Given the description of an element on the screen output the (x, y) to click on. 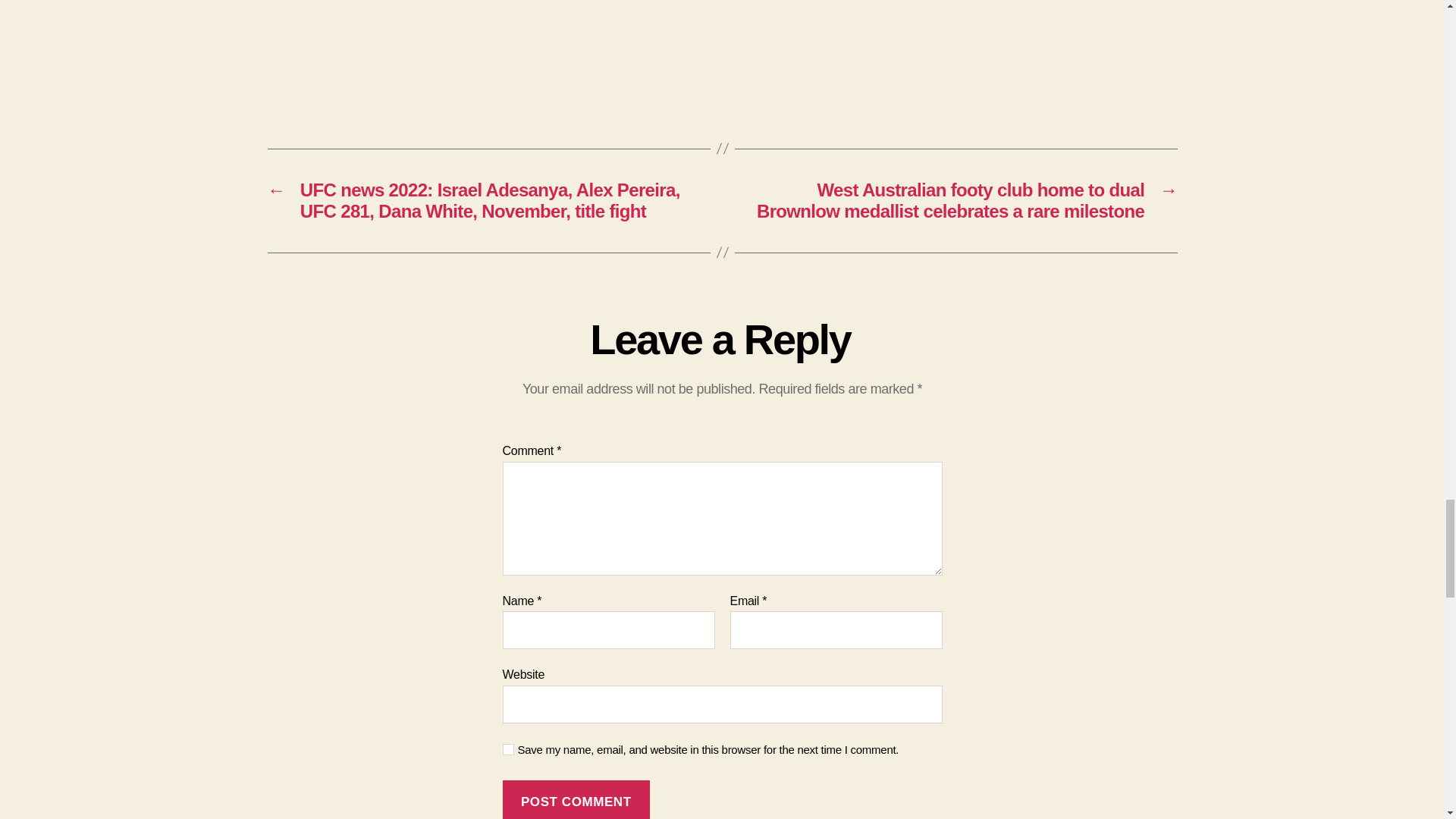
Post Comment (575, 799)
Post Comment (575, 799)
yes (507, 749)
